Given the description of an element on the screen output the (x, y) to click on. 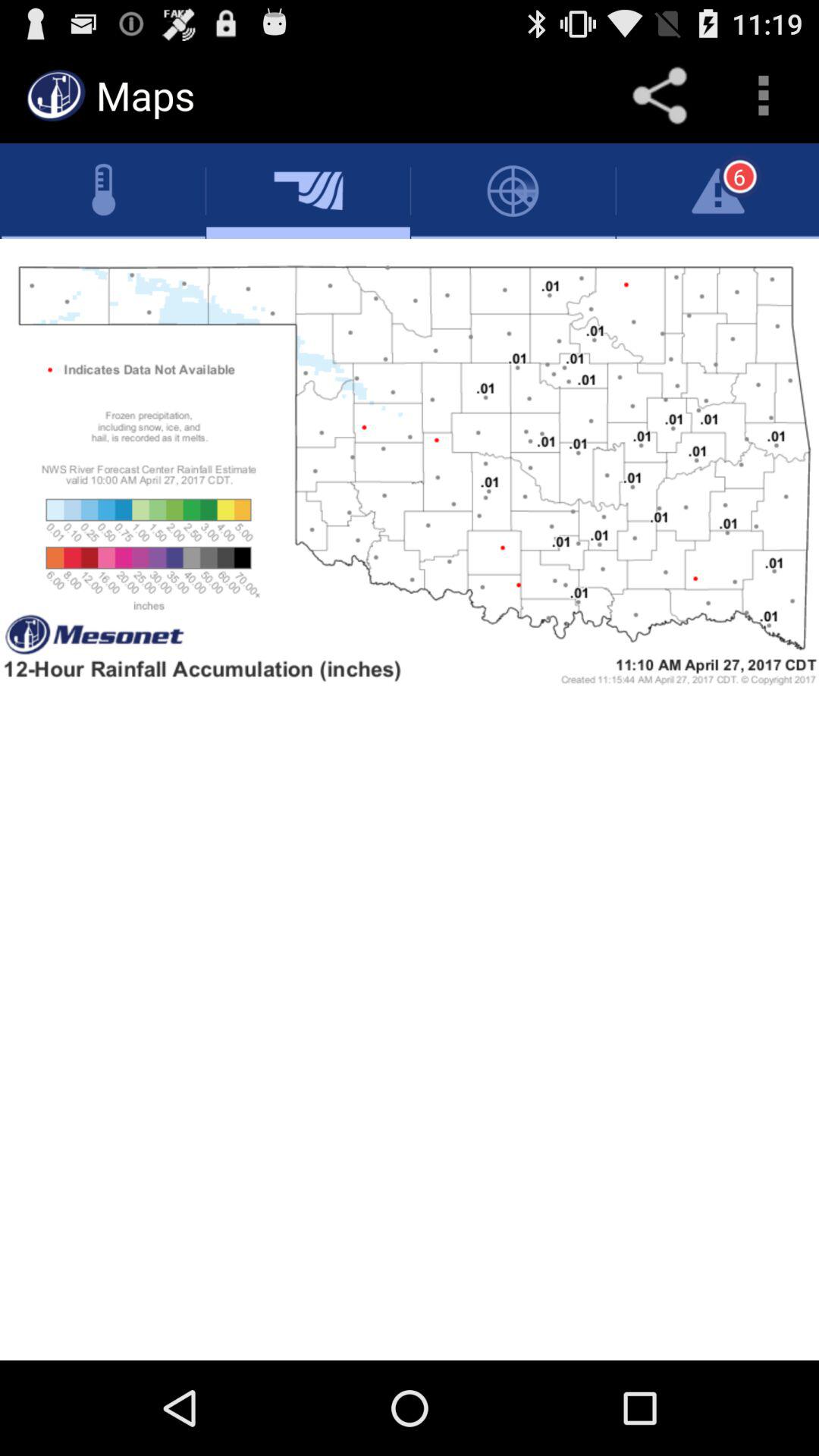
map page (409, 799)
